Given the description of an element on the screen output the (x, y) to click on. 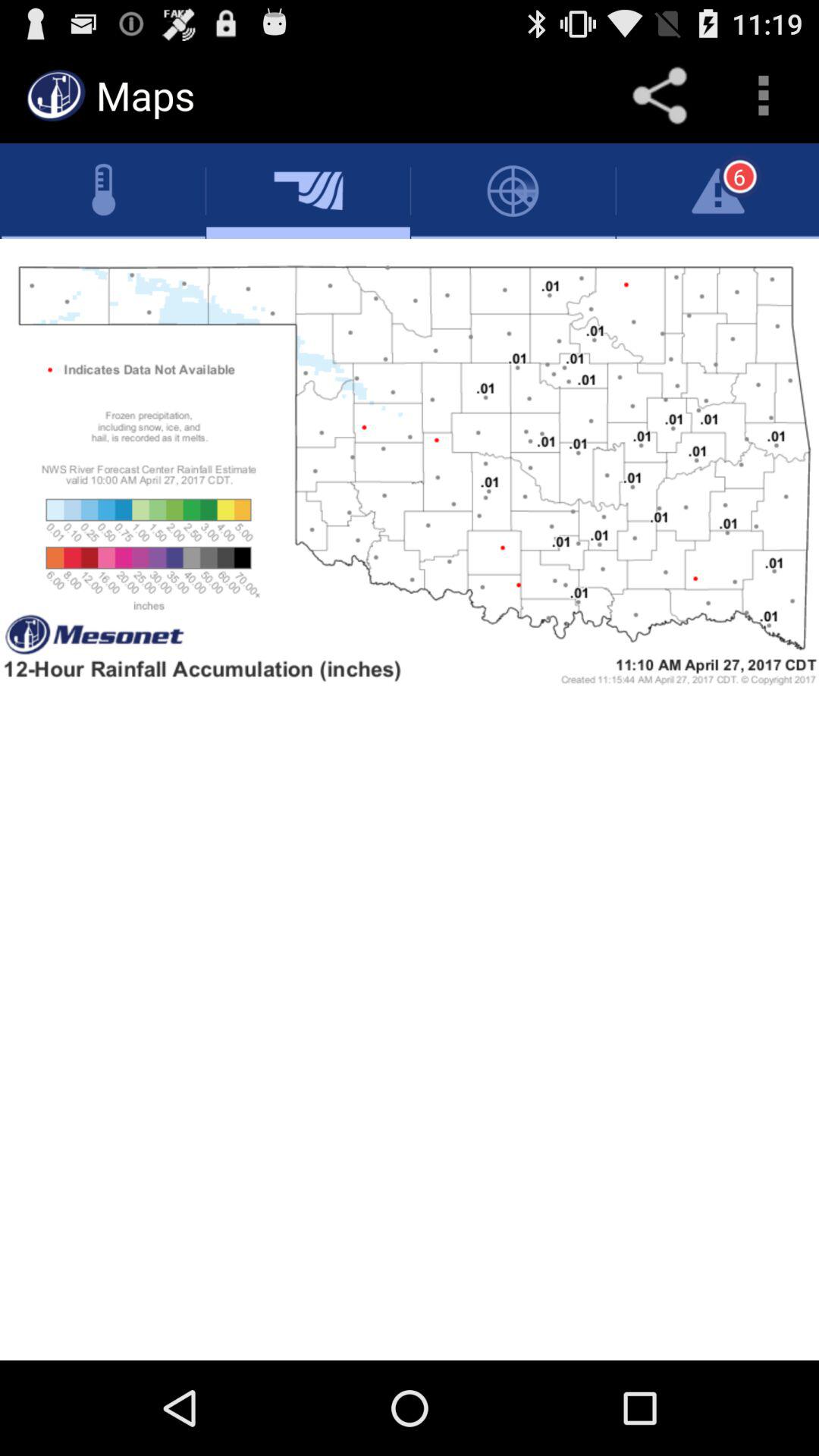
map page (409, 799)
